Given the description of an element on the screen output the (x, y) to click on. 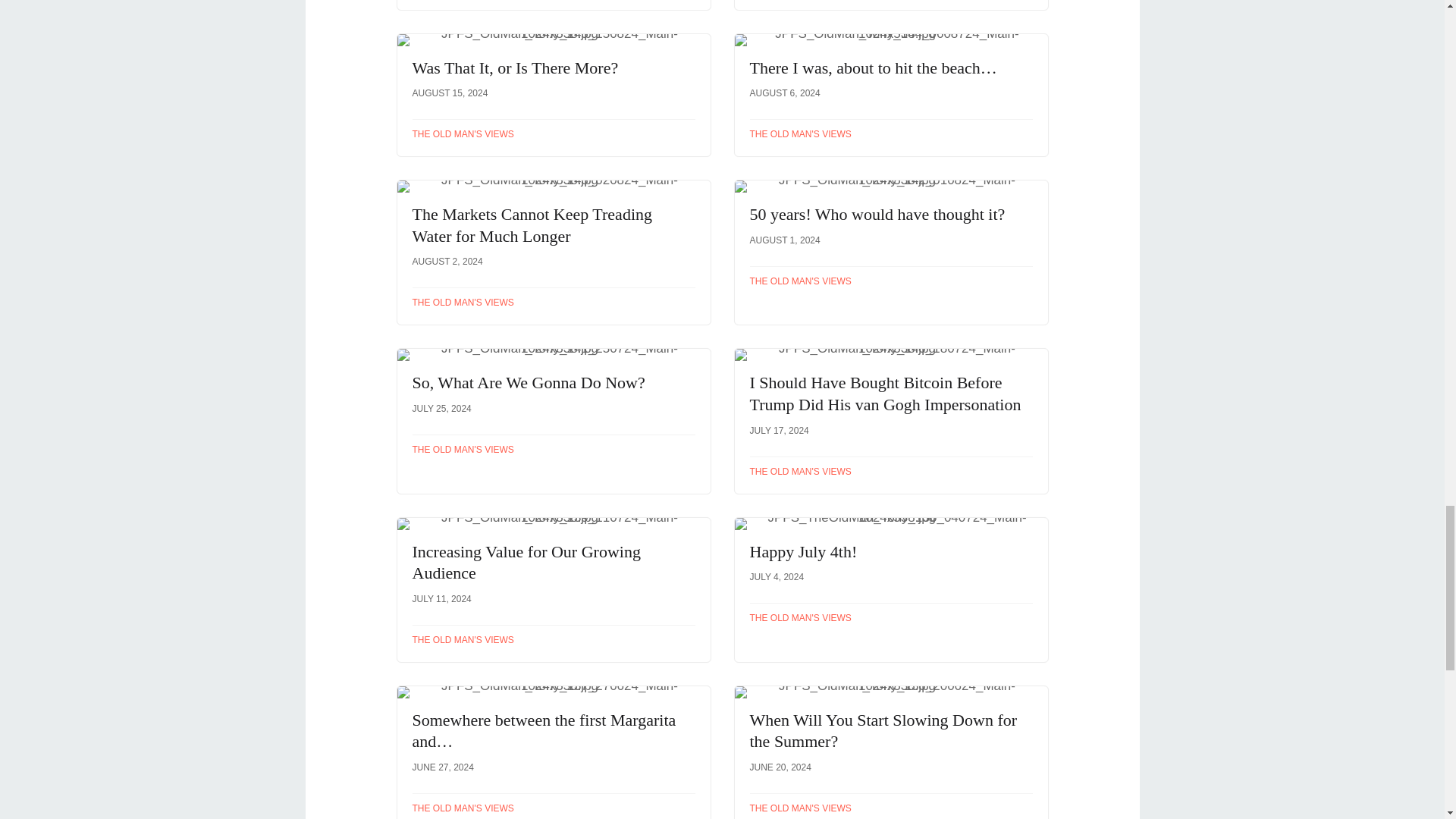
The Markets Cannot Keep Treading Water for Much Longer (553, 252)
August trades and lessons to be learnt (553, 4)
Was That It, or Is There More? (553, 95)
